Given the description of an element on the screen output the (x, y) to click on. 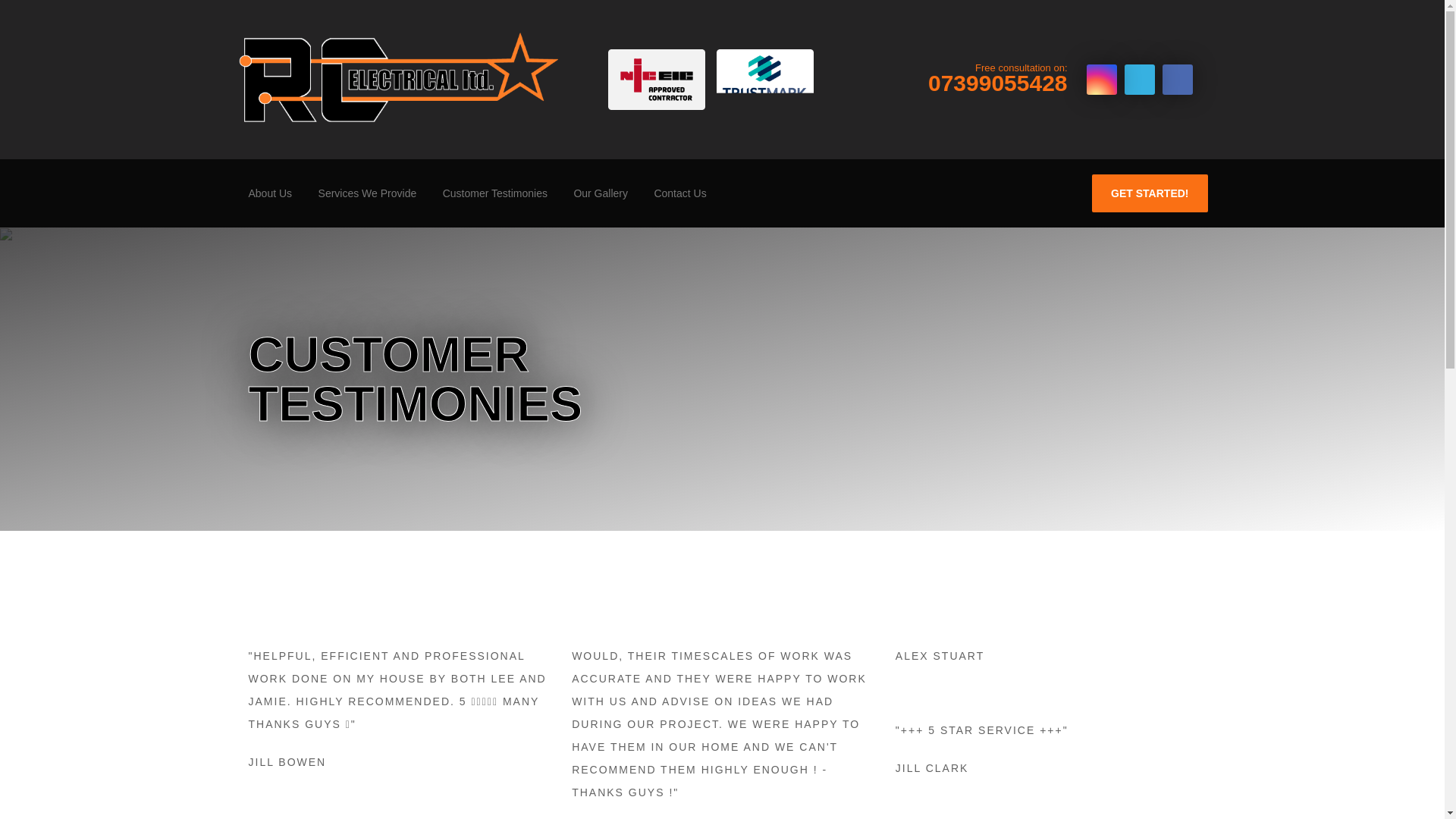
Contact Us (679, 193)
GET STARTED! (997, 77)
Services We Provide (1149, 193)
About Us (367, 193)
Our Gallery (268, 193)
Customer Testimonies (600, 193)
